Given the description of an element on the screen output the (x, y) to click on. 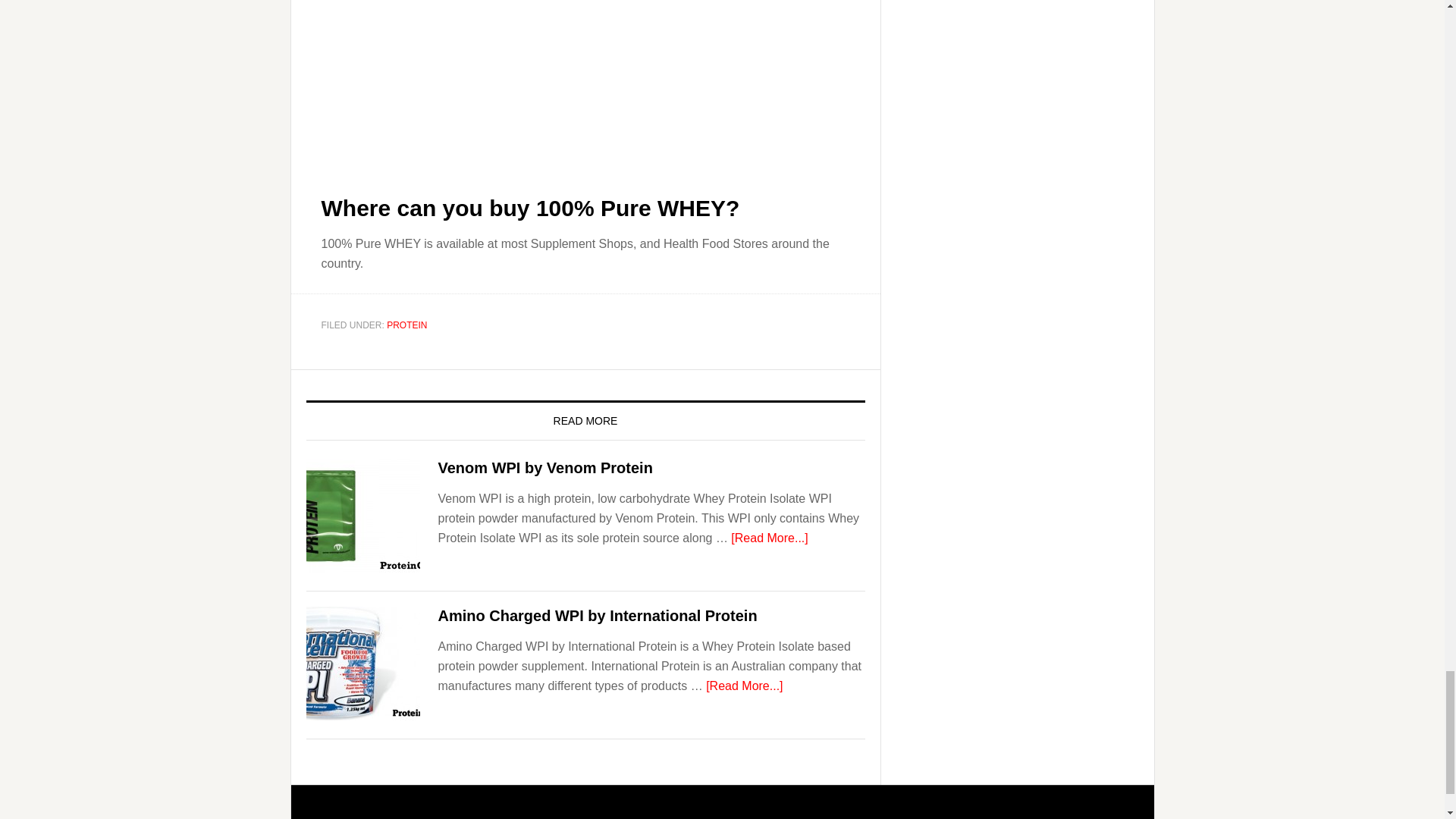
Venom WPI by Venom Protein (545, 467)
Amino Charged WPI by International Protein (597, 615)
PROTEIN (406, 325)
